Given the description of an element on the screen output the (x, y) to click on. 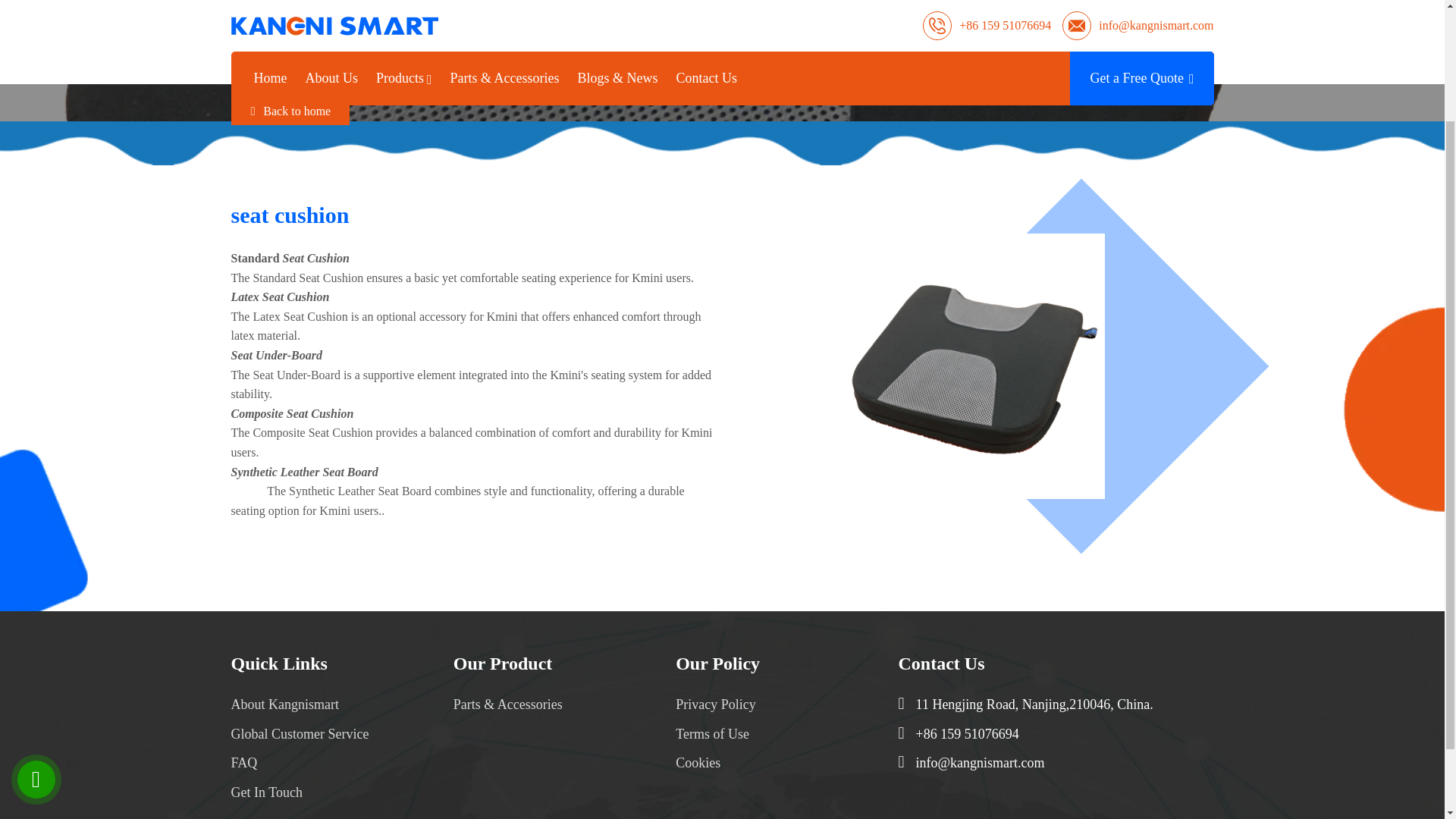
Privacy Policy (715, 703)
Terms of Use (712, 734)
Back to home (289, 111)
Cookies (697, 762)
Home (631, 60)
Get In Touch (261, 792)
FAQ (238, 762)
About Kangnismart (276, 703)
Global Customer Service (292, 734)
